Given the description of an element on the screen output the (x, y) to click on. 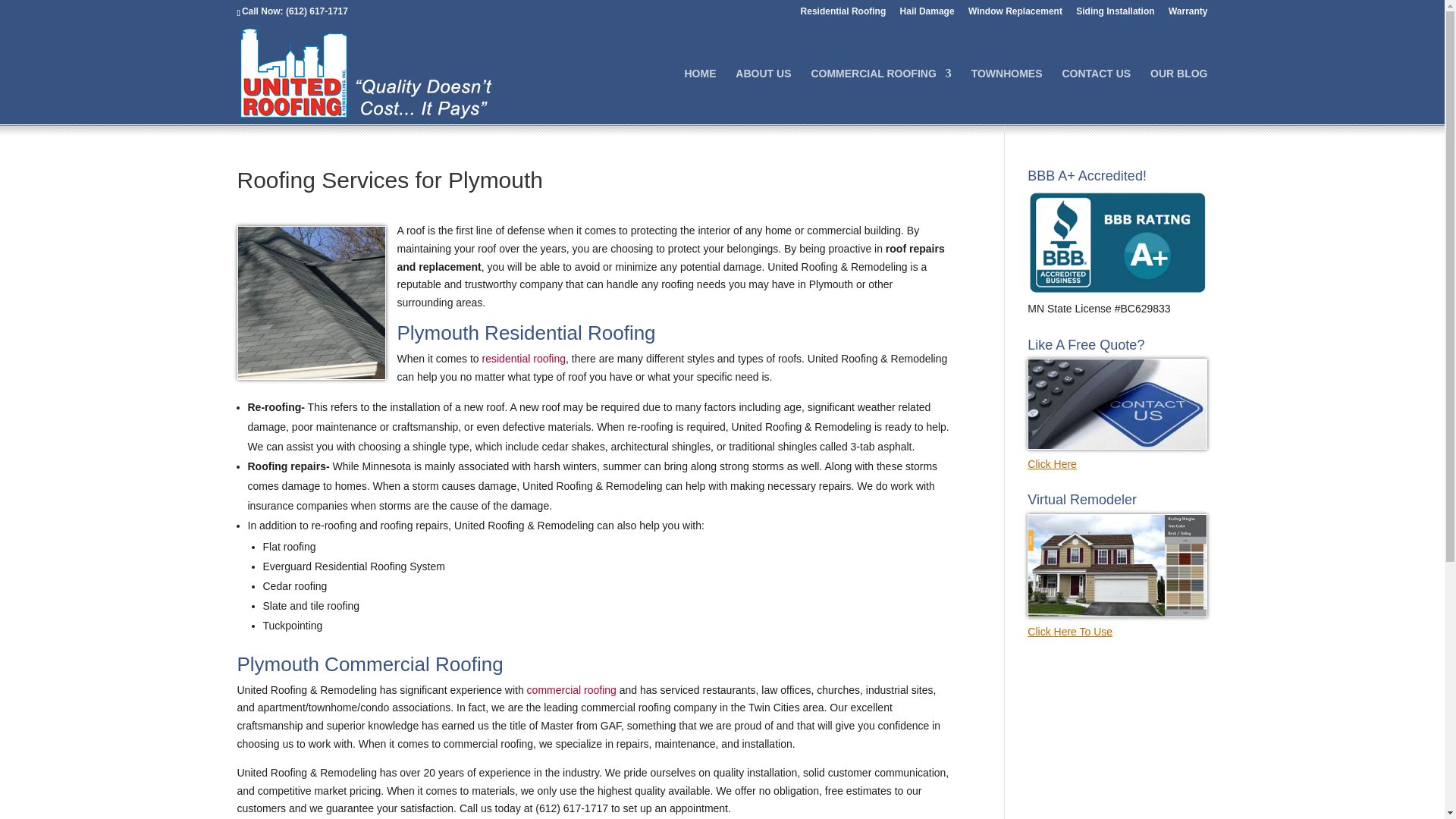
ABOUT US (762, 95)
Warranty (1188, 14)
TOWNHOMES (1006, 95)
Window Replacement (1015, 14)
Siding Installation (1114, 14)
commercial roofing (571, 689)
Hail Damage (927, 14)
COMMERCIAL ROOFING (880, 95)
OUR BLOG (1178, 95)
residential roofing (523, 358)
